Given the description of an element on the screen output the (x, y) to click on. 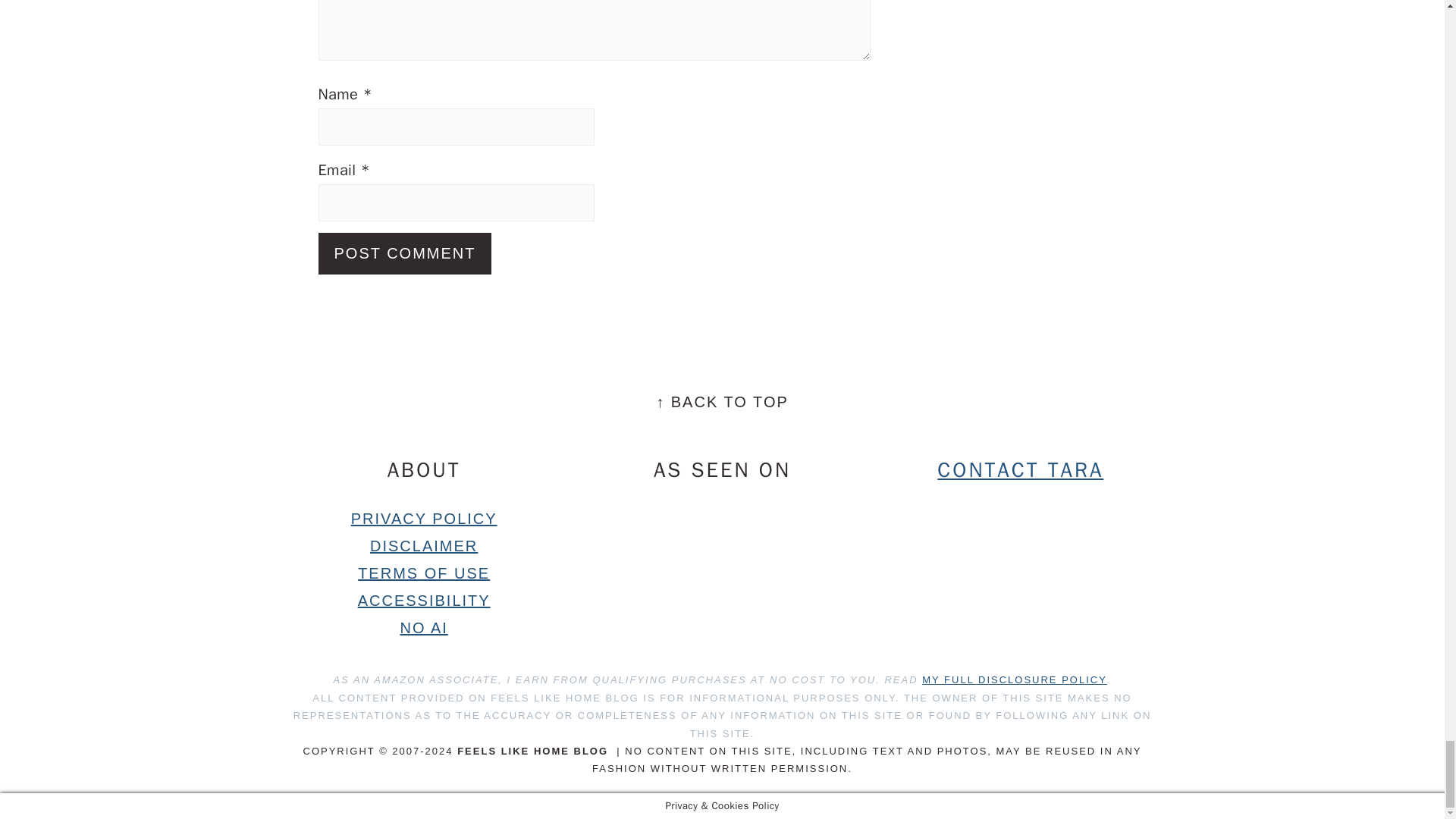
Post Comment (405, 253)
